Given the description of an element on the screen output the (x, y) to click on. 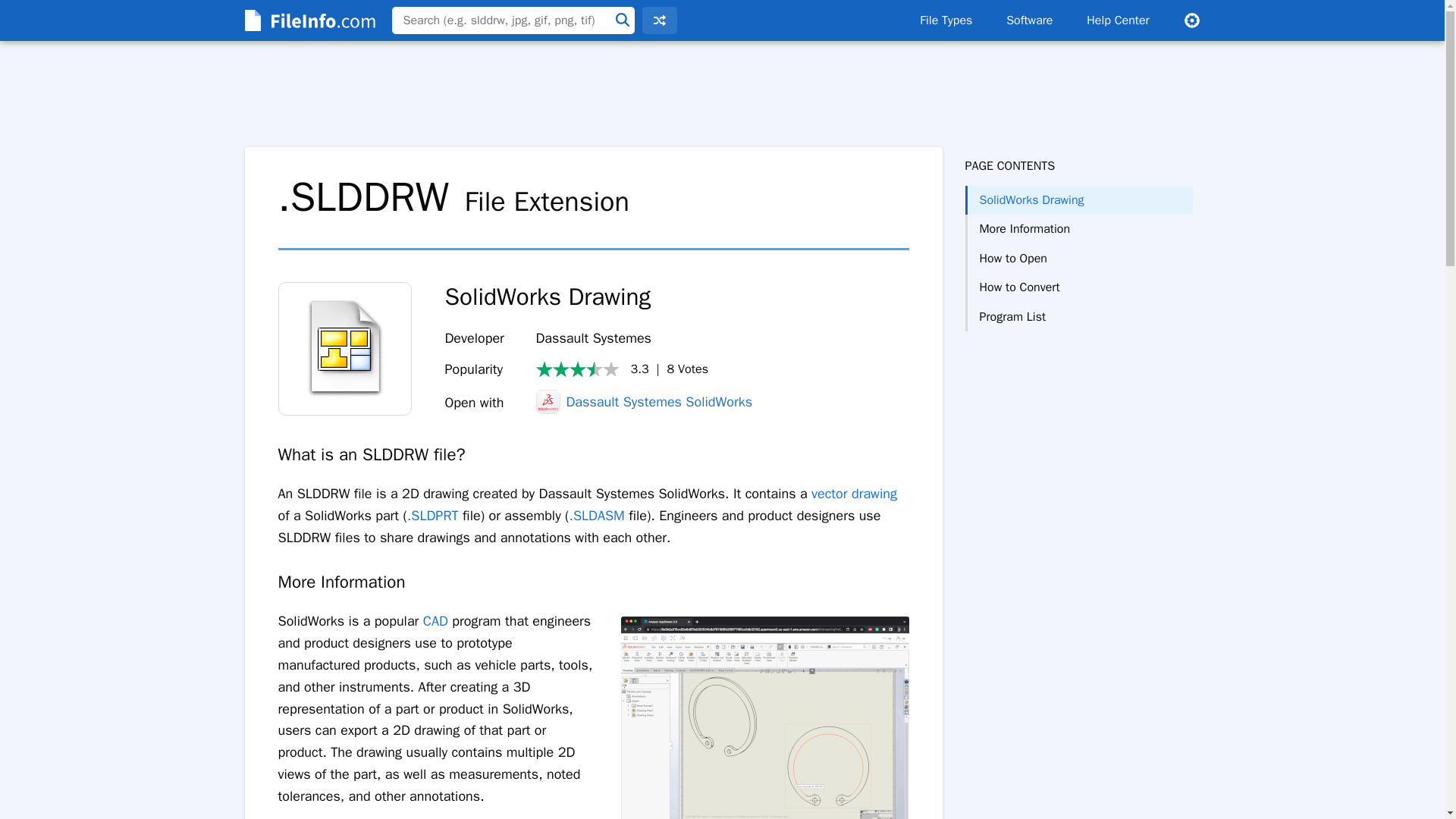
FileInfo (307, 20)
Random (659, 20)
3rd party ad content (1077, 391)
File Types (945, 20)
.SLDPRT (432, 515)
Settings (1190, 20)
SLDDRW File Screenshot (764, 717)
.SLDASM (596, 515)
Software (1029, 20)
vector drawing (853, 493)
Dassault Systemes SolidWorks eDrawings Viewer 2009 Icon (344, 348)
Dassault Systemes SolidWorks (643, 401)
Help Center (1117, 20)
3rd party ad content (721, 93)
